Given the description of an element on the screen output the (x, y) to click on. 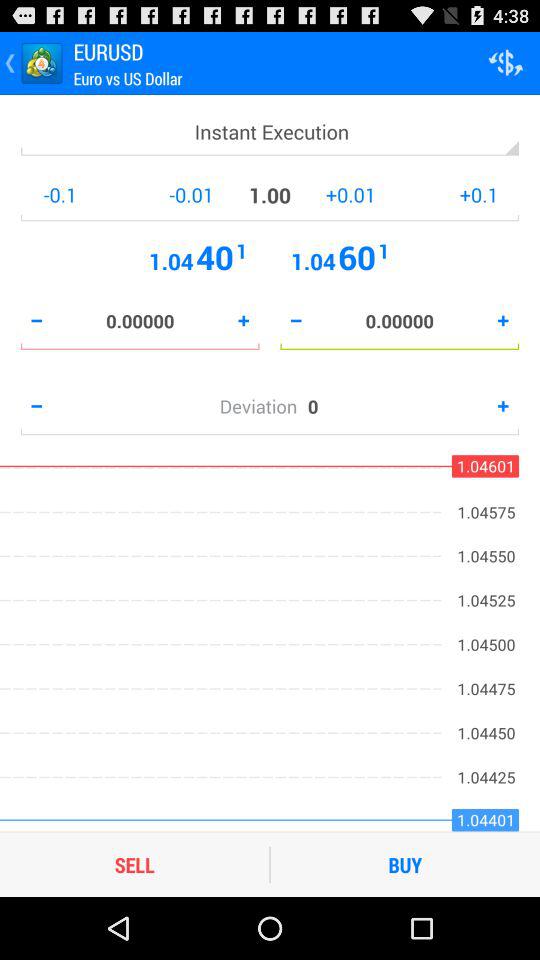
tap sell at the bottom left corner (134, 864)
